Given the description of an element on the screen output the (x, y) to click on. 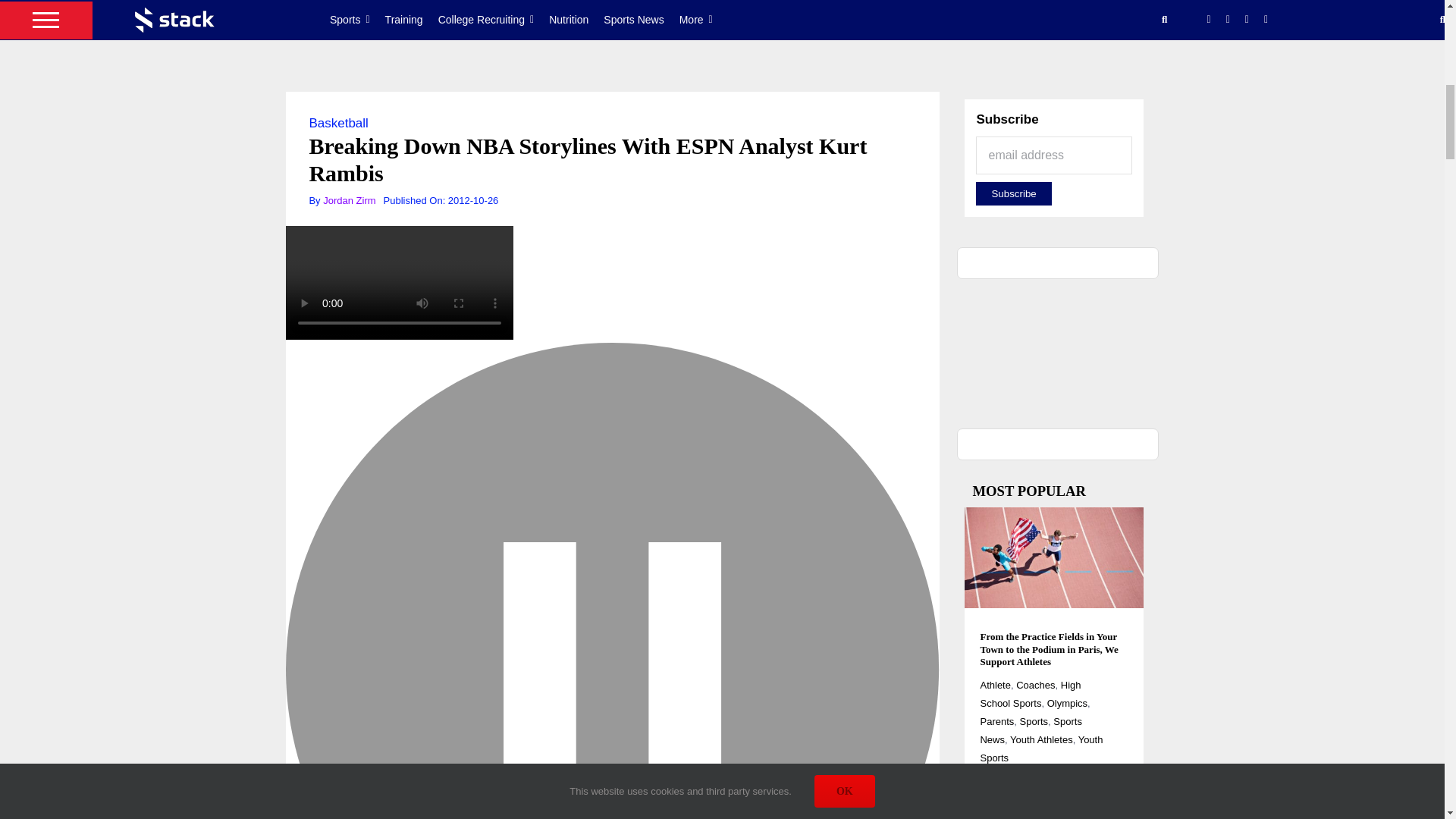
Posts by Jordan Zirm (349, 200)
Basketball (338, 123)
Subscribe (1013, 193)
